Given the description of an element on the screen output the (x, y) to click on. 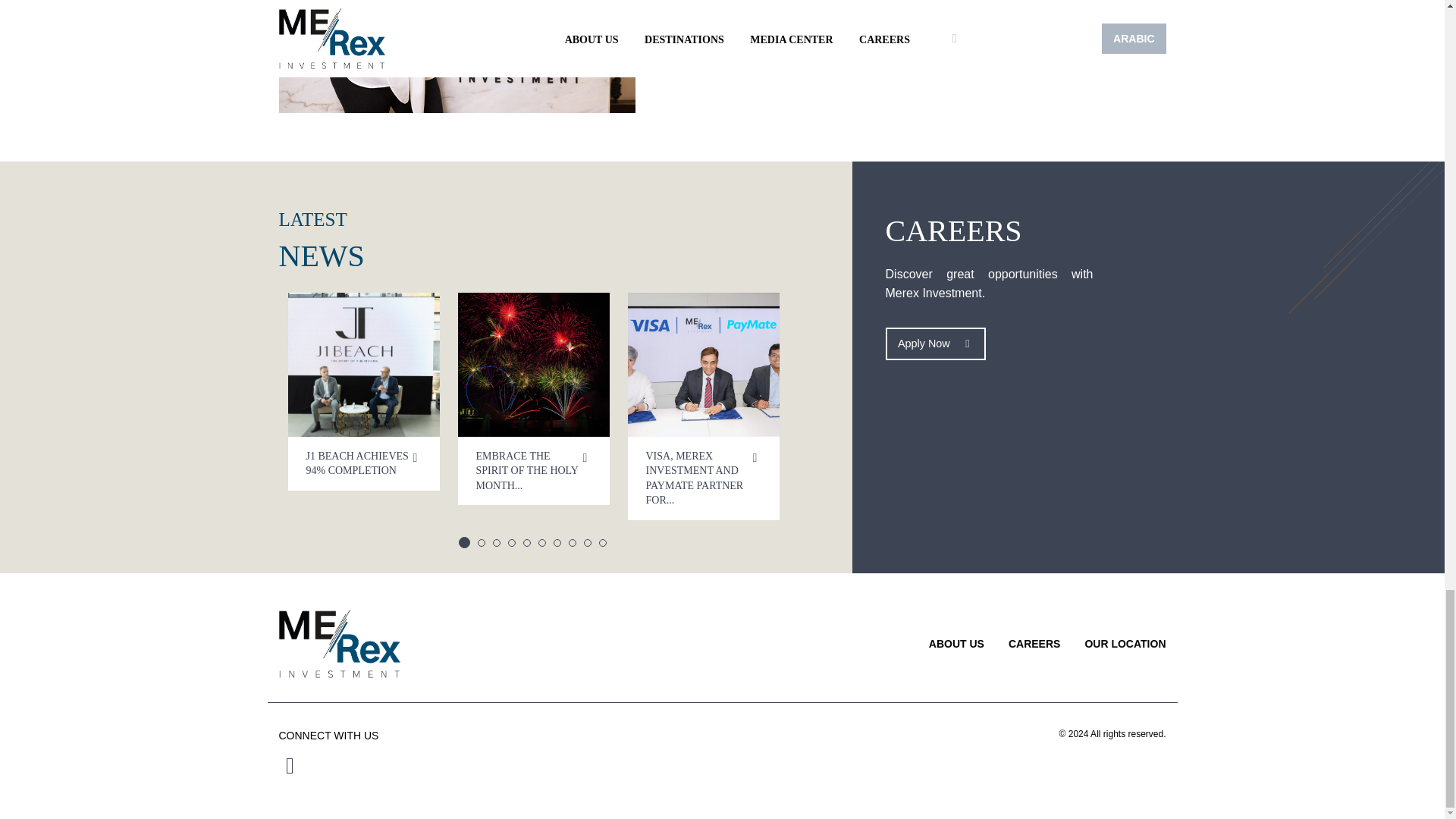
LinkedIn (495, 765)
